Given the description of an element on the screen output the (x, y) to click on. 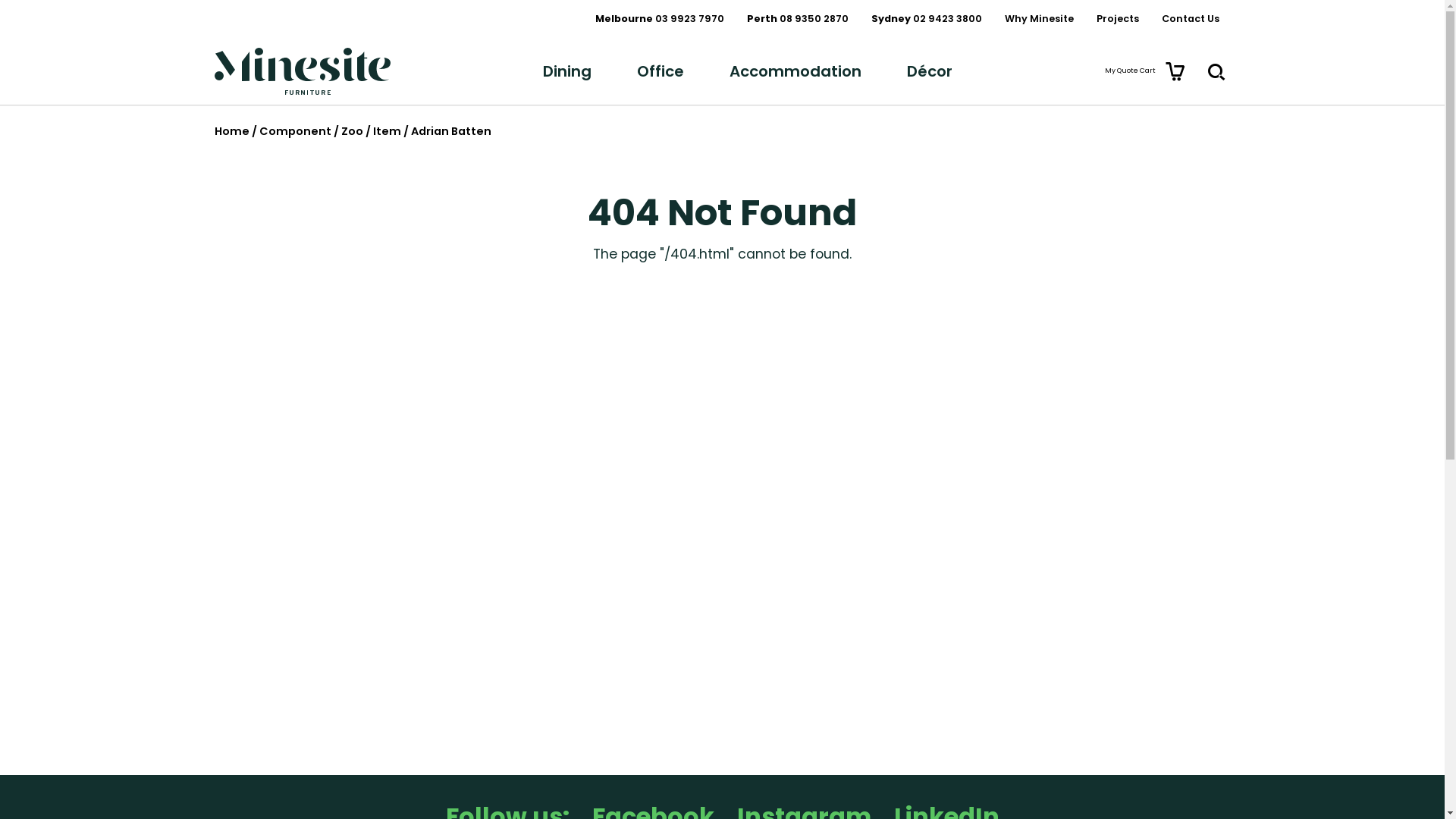
Melbourne 03 9923 7970 Element type: text (659, 18)
Projects Element type: text (1116, 18)
Component Element type: text (295, 130)
Why Minesite Element type: text (1039, 18)
Accommodation Element type: text (795, 70)
Item Element type: text (387, 130)
Adrian Batten Element type: text (451, 130)
Zoo Element type: text (352, 130)
Dining Element type: text (567, 70)
Sydney 02 9423 3800 Element type: text (926, 18)
Home Element type: text (230, 130)
Perth 08 9350 2870 Element type: text (797, 18)
Office Element type: text (660, 70)
